Given the description of an element on the screen output the (x, y) to click on. 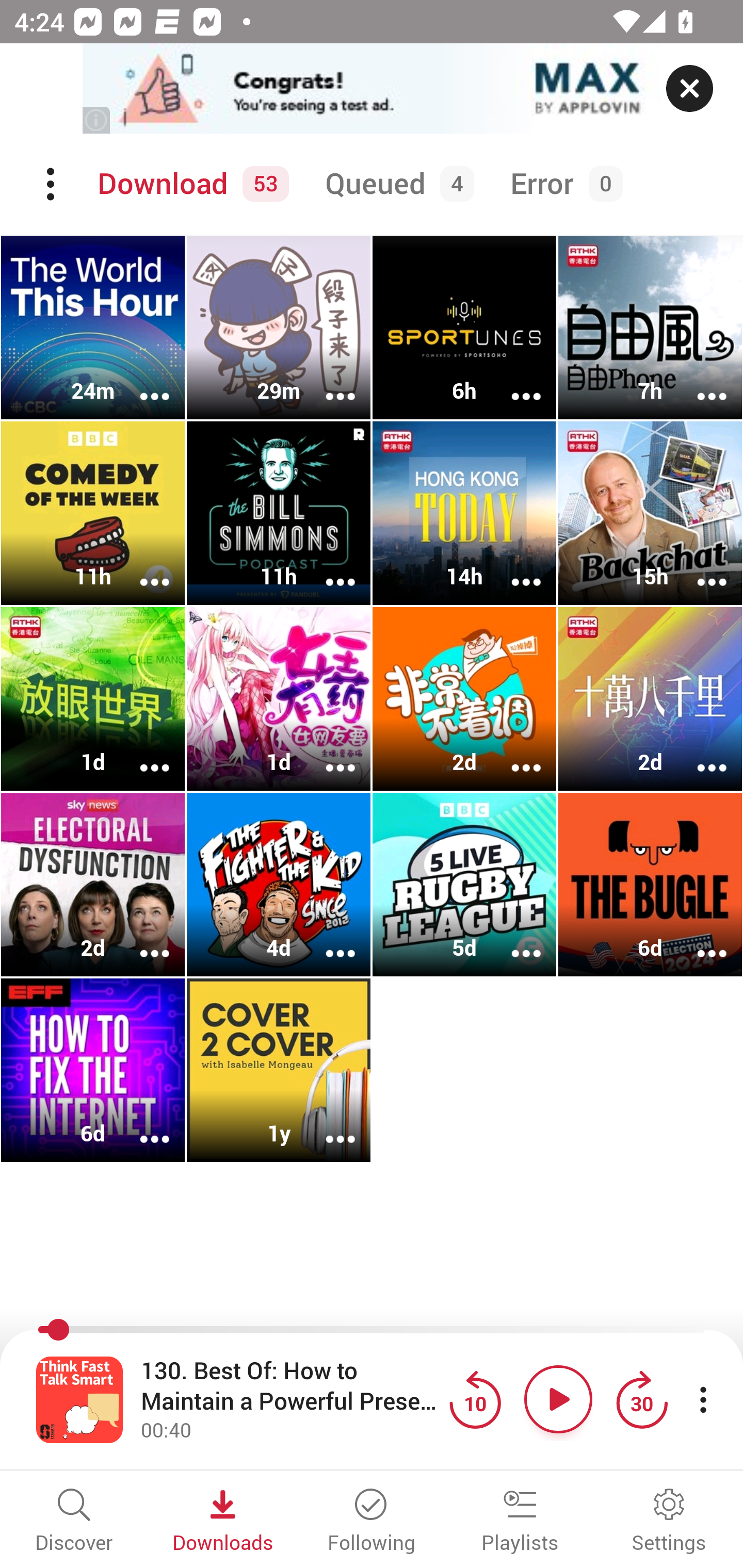
app-monetization (371, 88)
(i) (96, 119)
Menu (52, 184)
 Download 53 (189, 184)
 Queued 4 (396, 184)
 Error 0 (562, 184)
The World This Hour 24m More options More options (92, 327)
段子来了 29m More options More options (278, 327)
Sportunes HK 6h More options More options (464, 327)
自由风自由PHONE 7h More options More options (650, 327)
More options (141, 382)
More options (326, 382)
More options (512, 382)
More options (698, 382)
Comedy of the Week 11h More options More options (92, 513)
Hong Kong Today 14h More options More options (464, 513)
Backchat 15h More options More options (650, 513)
More options (141, 569)
More options (326, 569)
More options (512, 569)
More options (698, 569)
放眼世界 1d More options More options (92, 698)
女王有药丨爆笑脱口秀 1d More options More options (278, 698)
非常不着调 2d More options More options (464, 698)
十萬八千里 2d More options More options (650, 698)
More options (141, 754)
More options (326, 754)
More options (512, 754)
More options (698, 754)
Electoral Dysfunction 2d More options More options (92, 883)
The Fighter & The Kid 4d More options More options (278, 883)
5 Live Rugby League 5d More options More options (464, 883)
The Bugle 6d More options More options (650, 883)
More options (141, 940)
More options (326, 940)
More options (512, 940)
More options (698, 940)
Cover 2 Cover 1y More options More options (278, 1069)
More options (141, 1125)
More options (326, 1125)
Open fullscreen player (79, 1399)
More player controls (703, 1399)
Play button (558, 1398)
Jump back (475, 1399)
Jump forward (641, 1399)
Discover (74, 1521)
Downloads (222, 1521)
Following (371, 1521)
Playlists (519, 1521)
Settings (668, 1521)
